Given the description of an element on the screen output the (x, y) to click on. 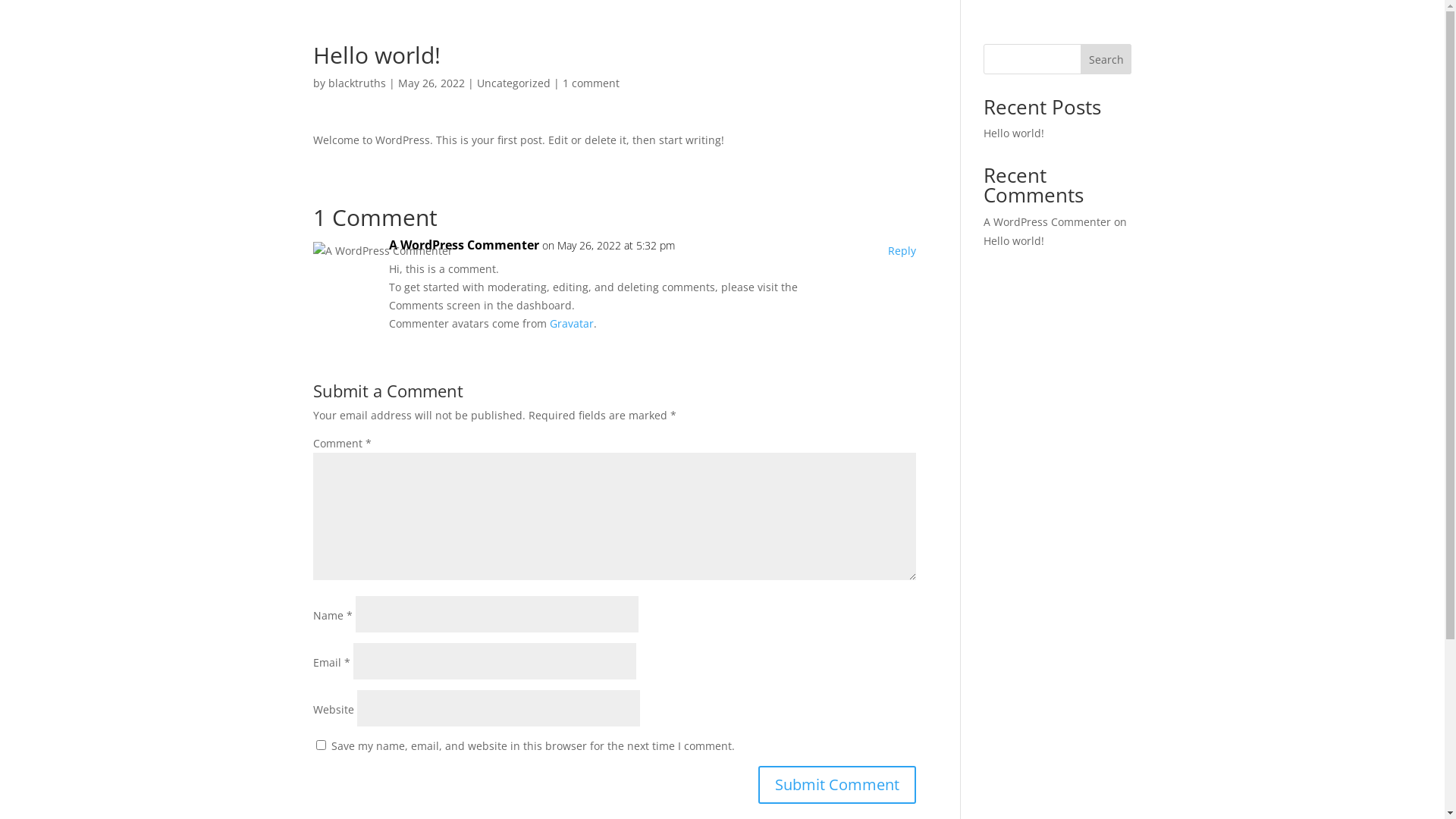
A WordPress Commenter Element type: text (463, 245)
blacktruths Element type: text (356, 82)
Reply Element type: text (902, 250)
Search Element type: text (1106, 58)
Gravatar Element type: text (571, 323)
1 comment Element type: text (590, 82)
Uncategorized Element type: text (512, 82)
A WordPress Commenter Element type: text (1046, 221)
Hello world! Element type: text (1013, 240)
Submit Comment Element type: text (837, 784)
Hello world! Element type: text (1013, 132)
